Given the description of an element on the screen output the (x, y) to click on. 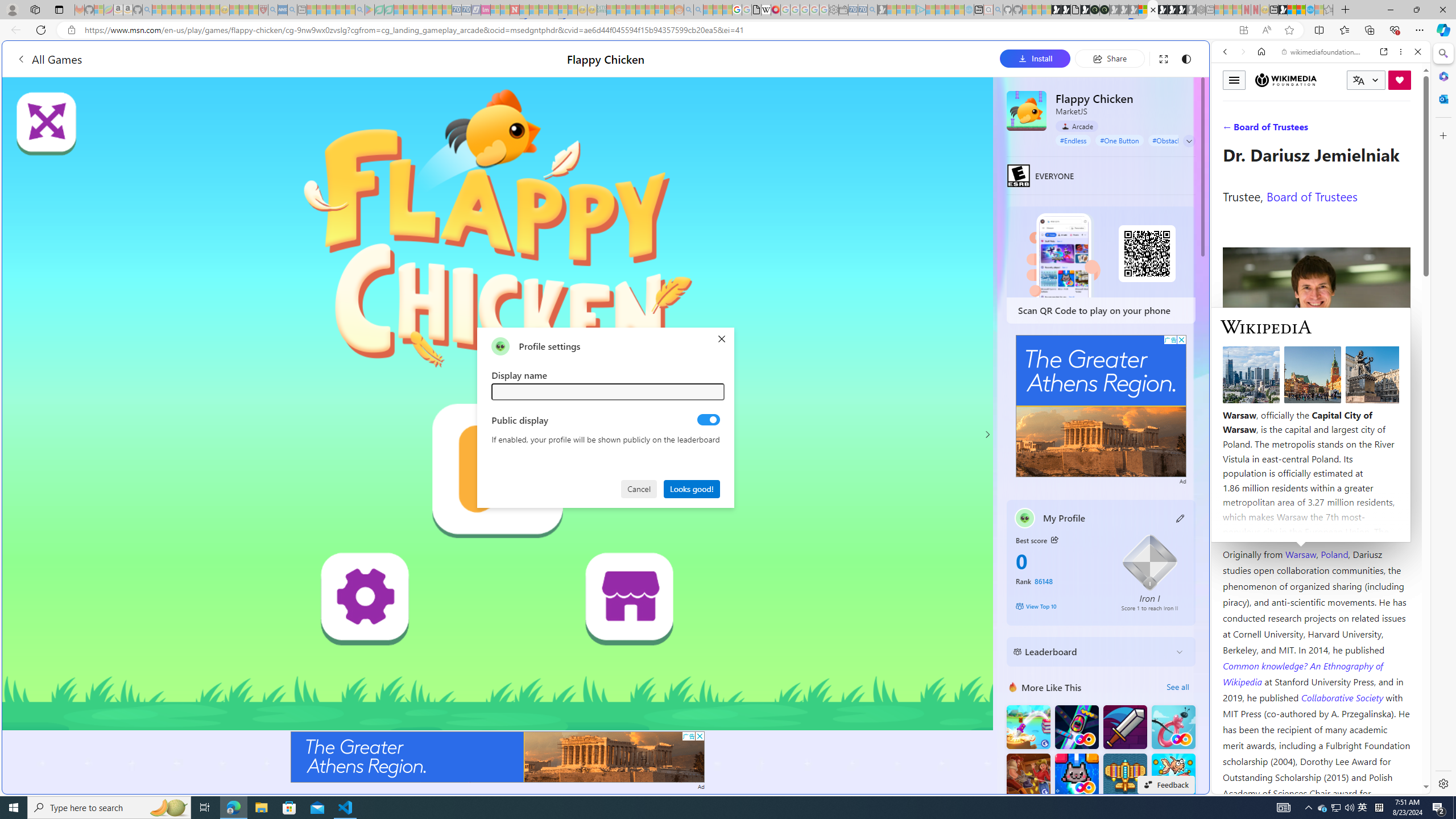
Services - Maintenance | Sky Blue Bikes - Sky Blue Bikes (1309, 9)
github - Search - Sleeping (997, 9)
Dungeon Master Knight (1124, 726)
utah sues federal government - Search (922, 389)
